Given the description of an element on the screen output the (x, y) to click on. 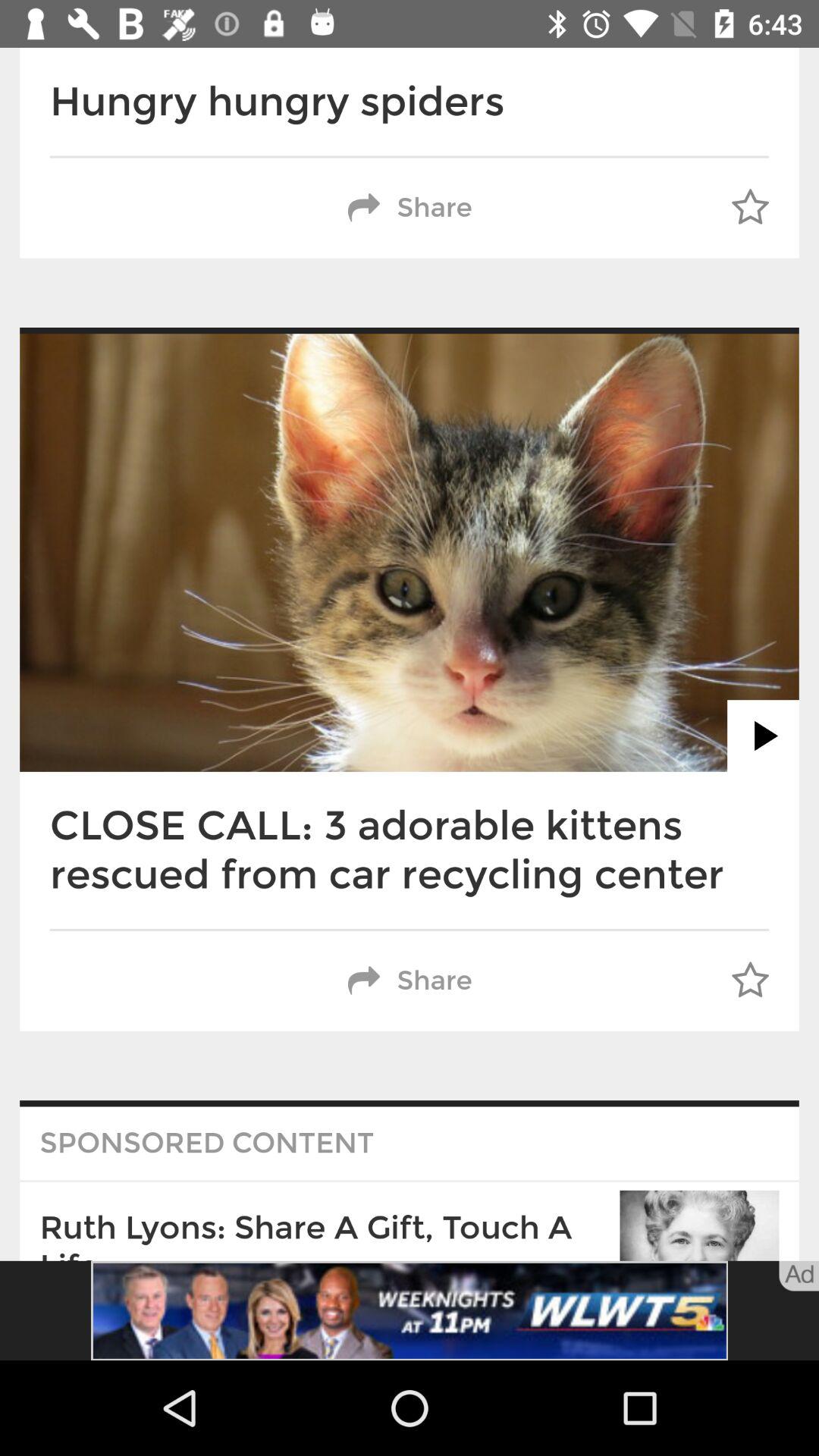
go to the advertisement (409, 1310)
